Given the description of an element on the screen output the (x, y) to click on. 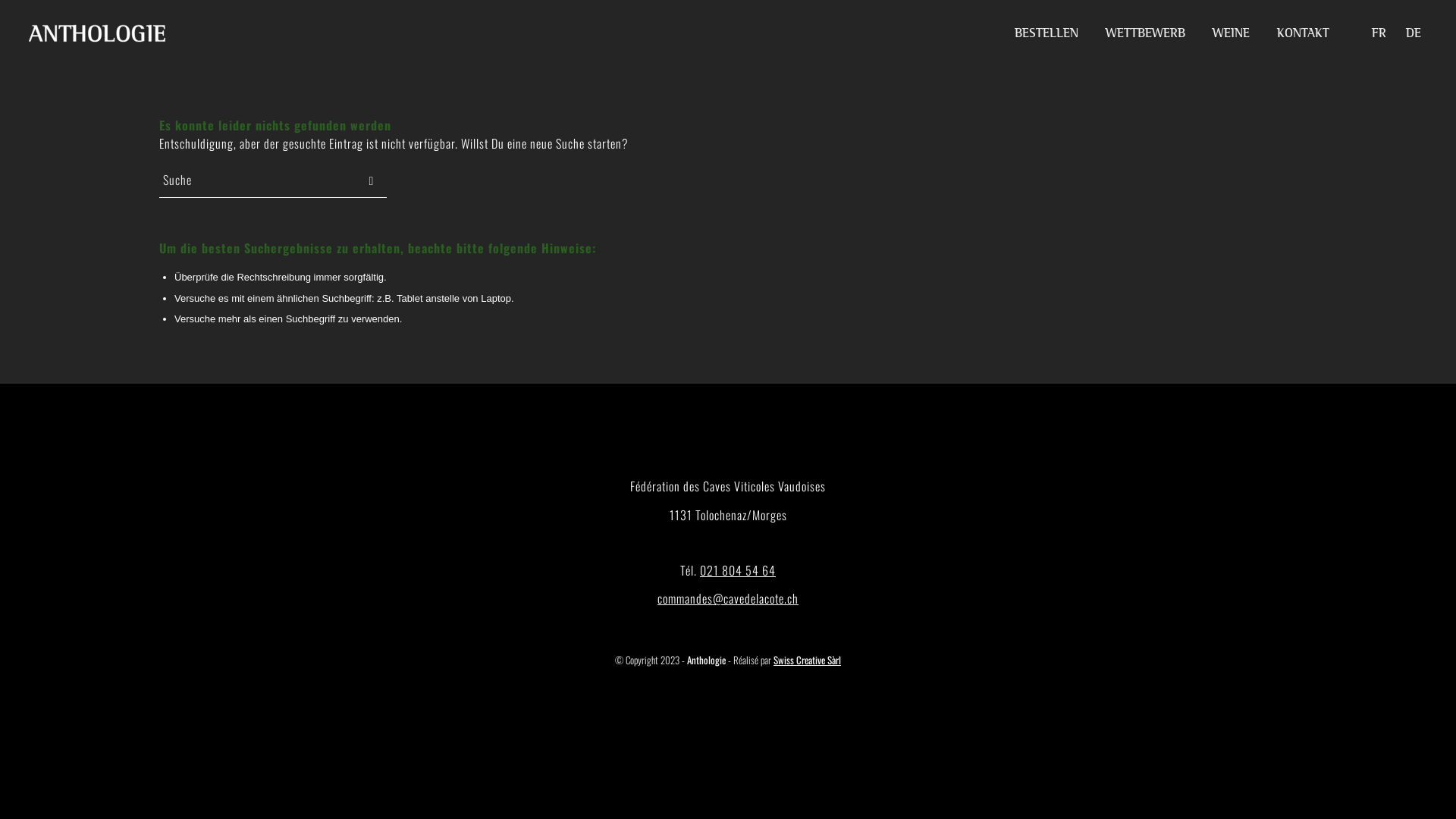
DE Element type: text (1411, 33)
WEINE Element type: text (1230, 33)
FR Element type: text (1369, 33)
BESTELLEN Element type: text (1046, 33)
commandes@cavedelacote.ch Element type: text (727, 598)
021 804 54 64 Element type: text (737, 570)
KONTAKT Element type: text (1303, 33)
WETTBEWERB Element type: text (1145, 33)
